Given the description of an element on the screen output the (x, y) to click on. 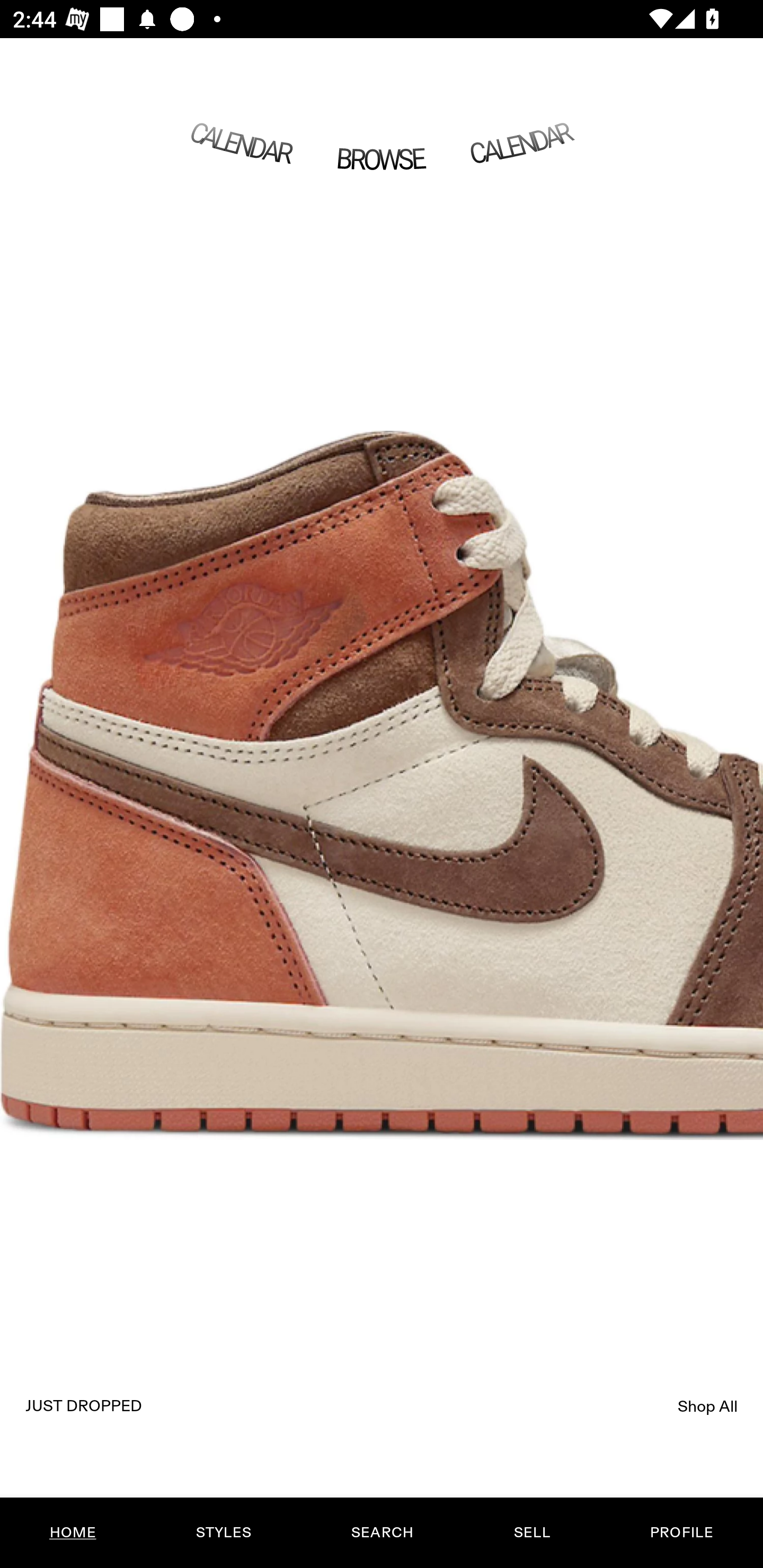
Shop All (707, 1406)
HOME (72, 1532)
STYLES (222, 1532)
SEARCH (381, 1532)
SELL (531, 1532)
PROFILE (681, 1532)
